Given the description of an element on the screen output the (x, y) to click on. 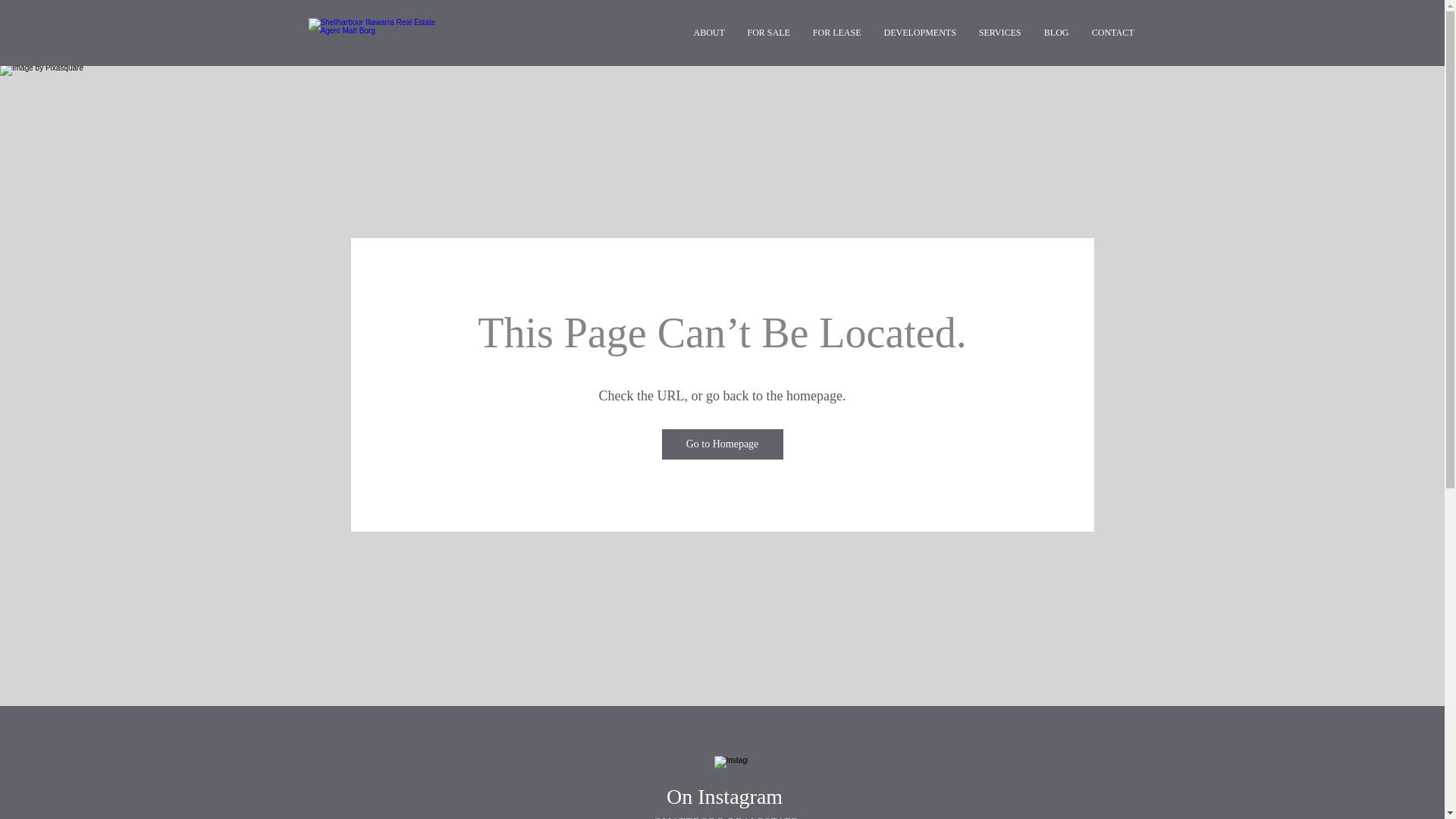
SERVICES Element type: text (999, 32)
FOR SALE Element type: text (767, 32)
Go to Homepage Element type: text (721, 444)
FOR LEASE Element type: text (836, 32)
BLOG Element type: text (1056, 32)
ABOUT Element type: text (709, 32)
DEVELOPMENTS Element type: text (919, 32)
CONTACT Element type: text (1112, 32)
